Given the description of an element on the screen output the (x, y) to click on. 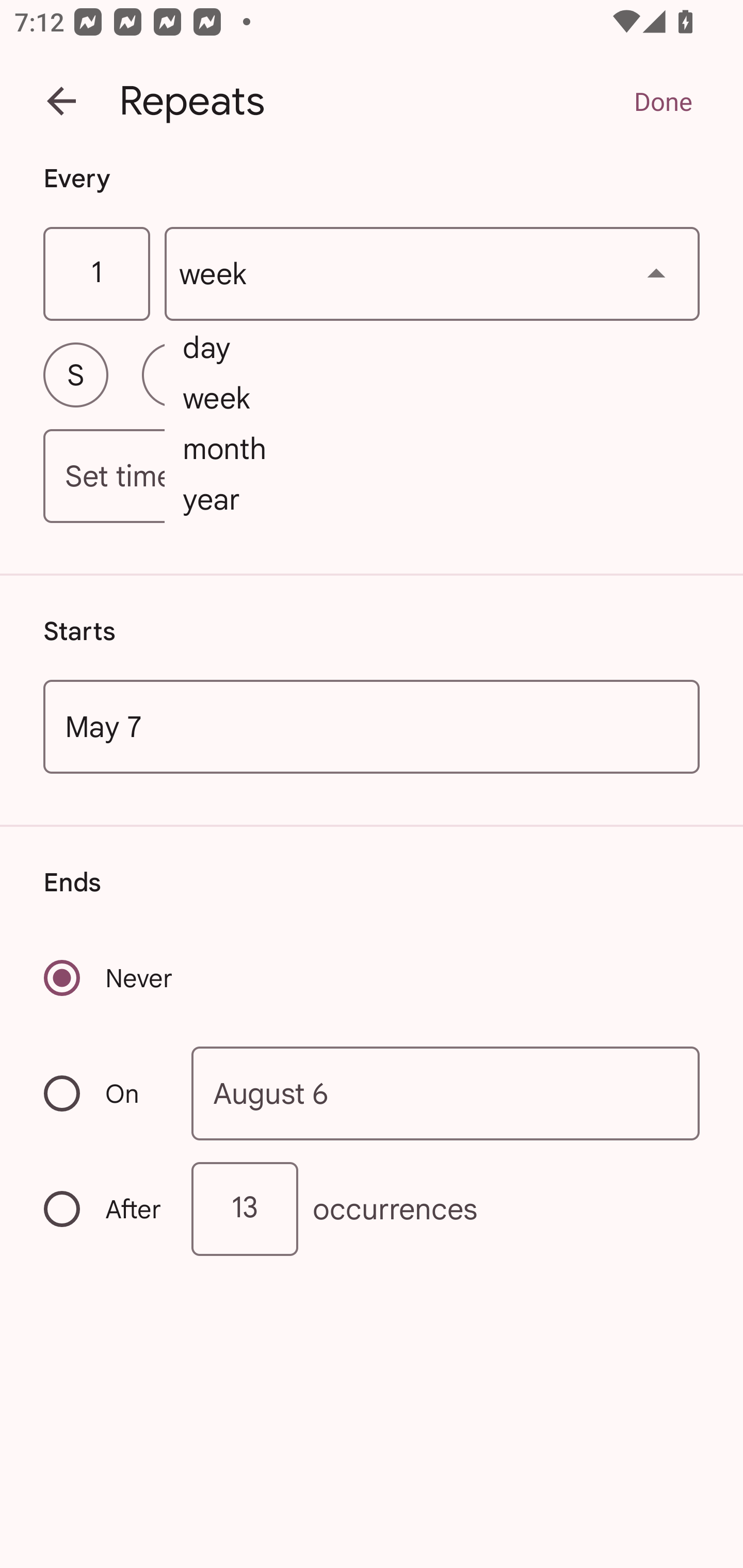
Back (61, 101)
Done (663, 101)
1 (96, 274)
week (431, 274)
Show dropdown menu (655, 273)
S Sunday (75, 374)
M Monday (173, 374)
T Tuesday, selected (272, 374)
W Wednesday (371, 374)
T Thursday (469, 374)
F Friday (568, 374)
S Saturday (666, 374)
Set time (371, 476)
May 7 (371, 726)
Never Recurrence never ends (109, 978)
August 6 (445, 1092)
On Recurrence ends on a specific date (104, 1093)
13 (244, 1208)
